Given the description of an element on the screen output the (x, y) to click on. 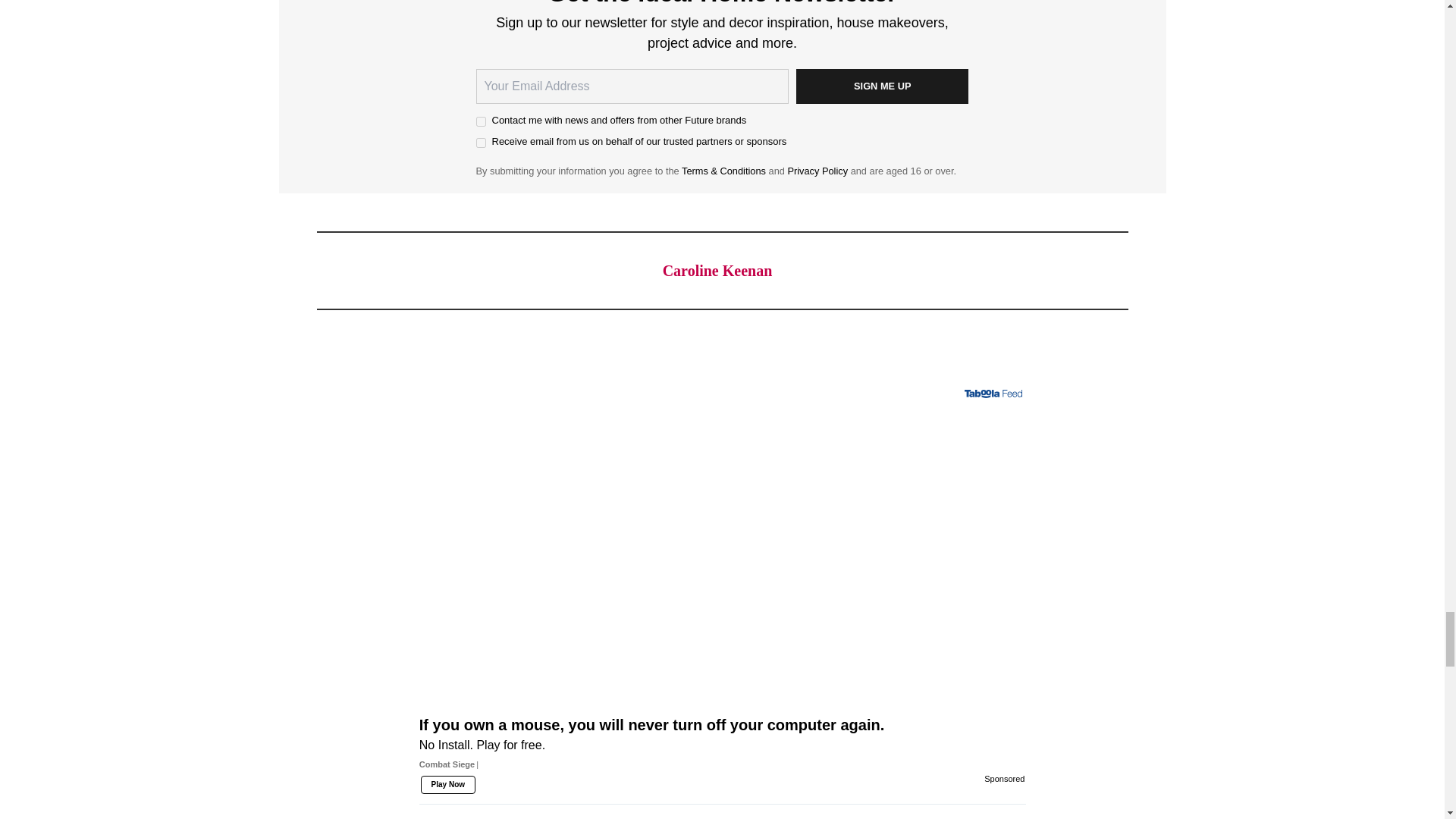
on (481, 143)
Sign me up (882, 86)
on (481, 121)
